Given the description of an element on the screen output the (x, y) to click on. 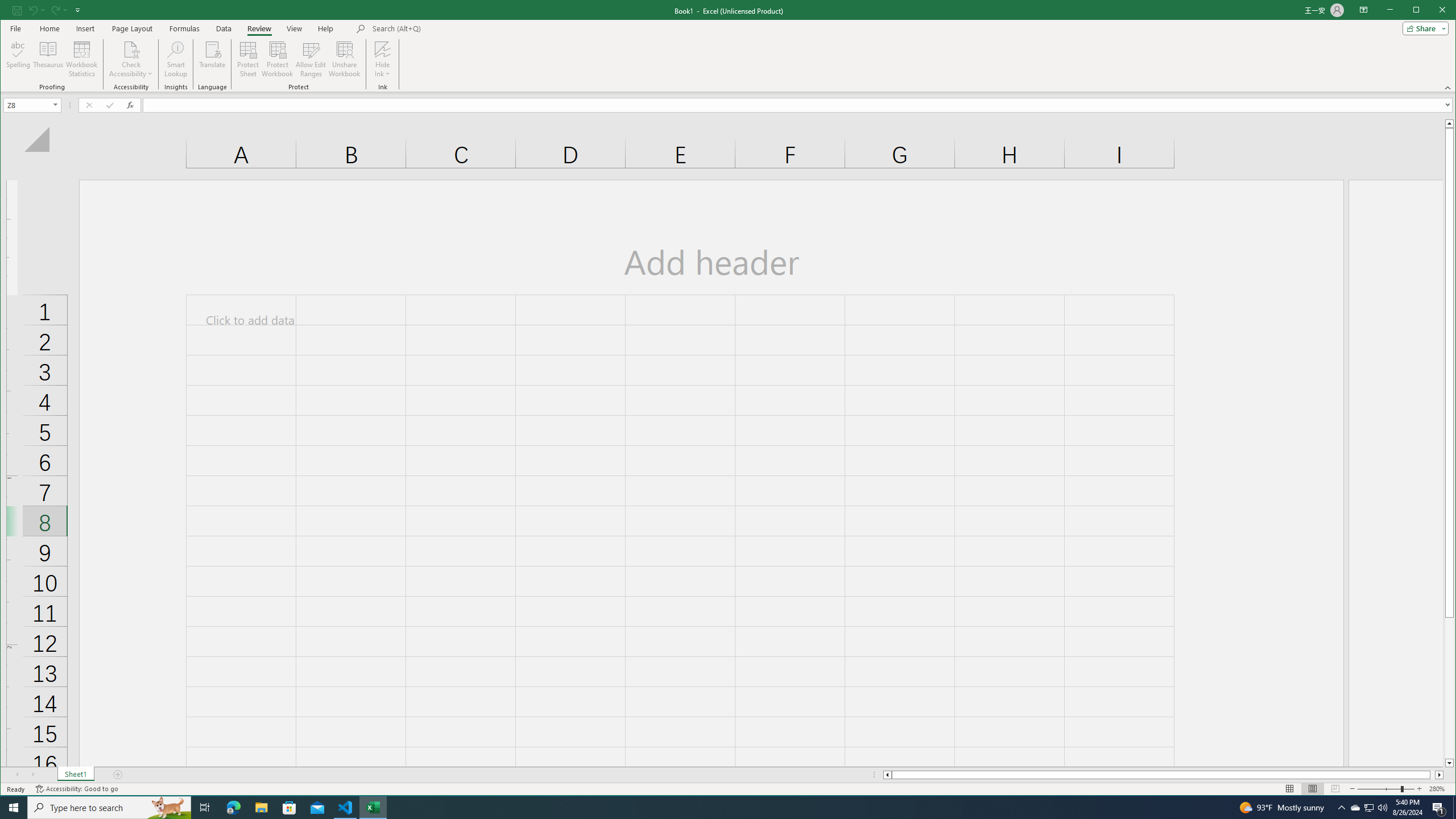
Page Layout (1312, 788)
Accessibility Checker Accessibility: Good to go (76, 788)
Close (1444, 11)
Help (325, 28)
Formulas (184, 28)
Microsoft search (451, 28)
Home (49, 28)
File Explorer (261, 807)
Unshare Workbook (344, 59)
Thesaurus... (48, 59)
Class: MsoCommandBar (728, 45)
Insert (85, 28)
Show desktop (1454, 807)
